Given the description of an element on the screen output the (x, y) to click on. 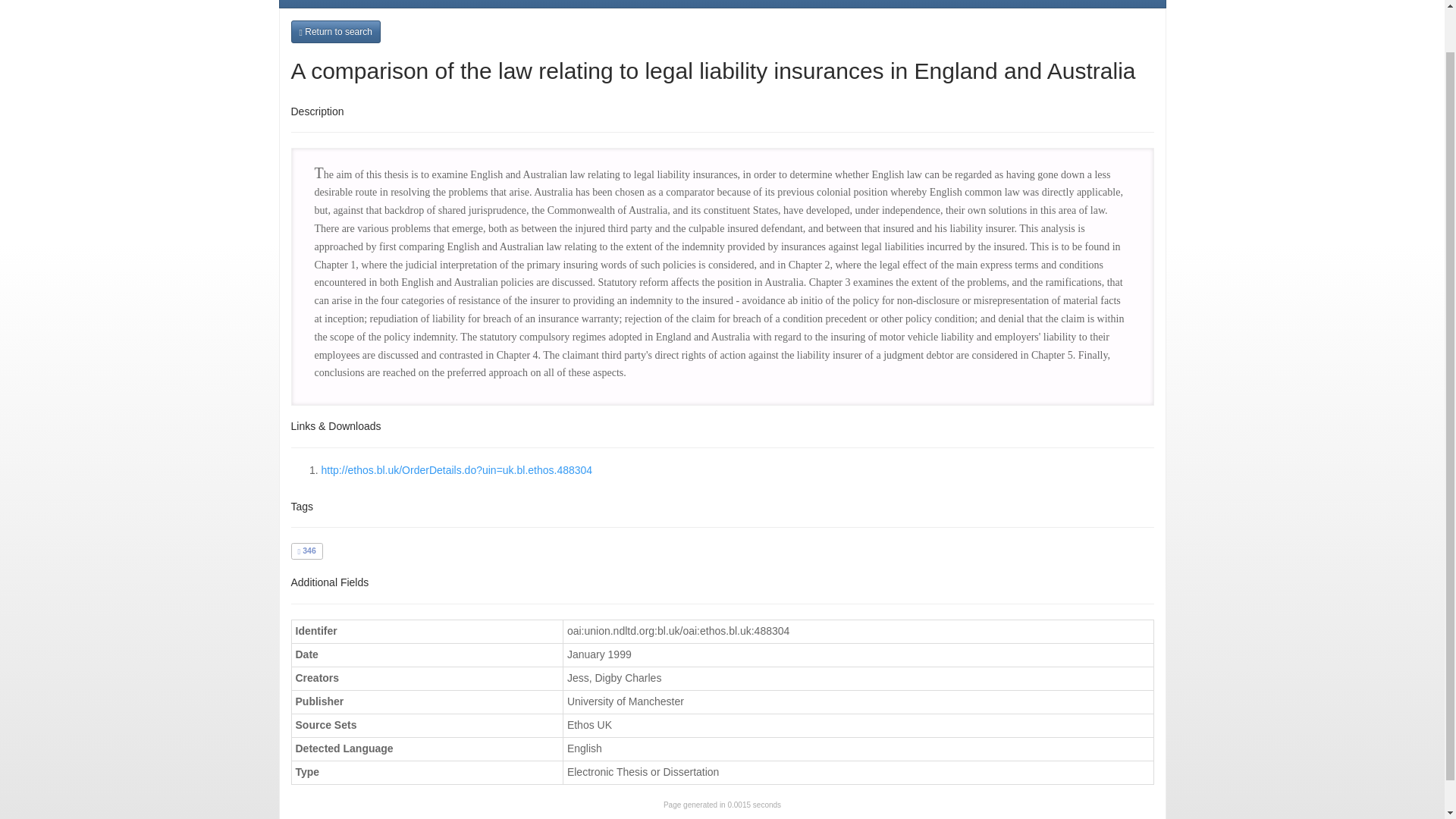
Return to search (335, 31)
346 (306, 550)
NDLTD Global ETD Search (389, 3)
New Search (528, 3)
